Given the description of an element on the screen output the (x, y) to click on. 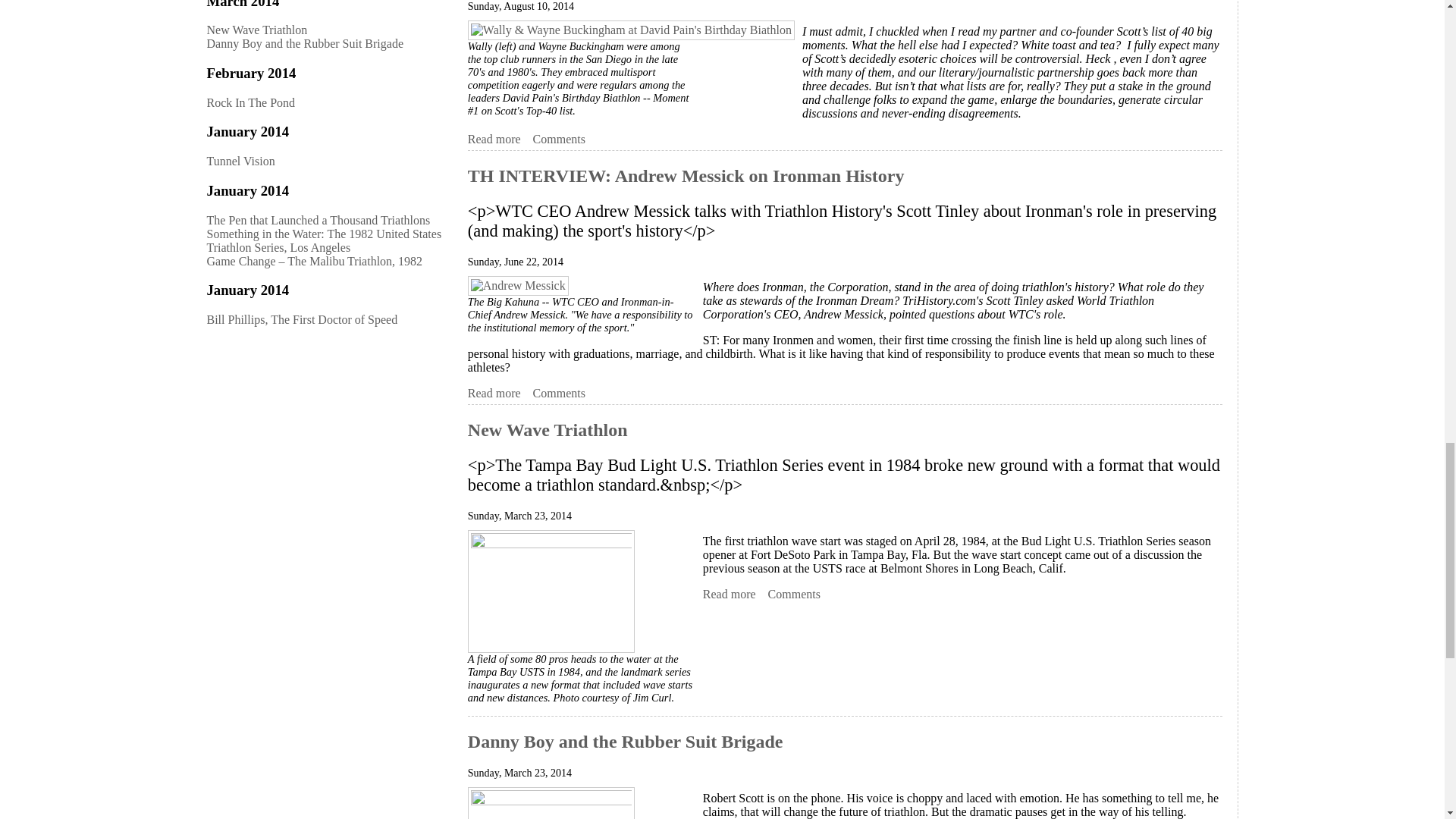
WTC CEO Andrew Messick (518, 285)
TH INTERVIEW: Andrew Messick on Ironman History  (494, 393)
A Straight 40 To Go  (494, 139)
